Given the description of an element on the screen output the (x, y) to click on. 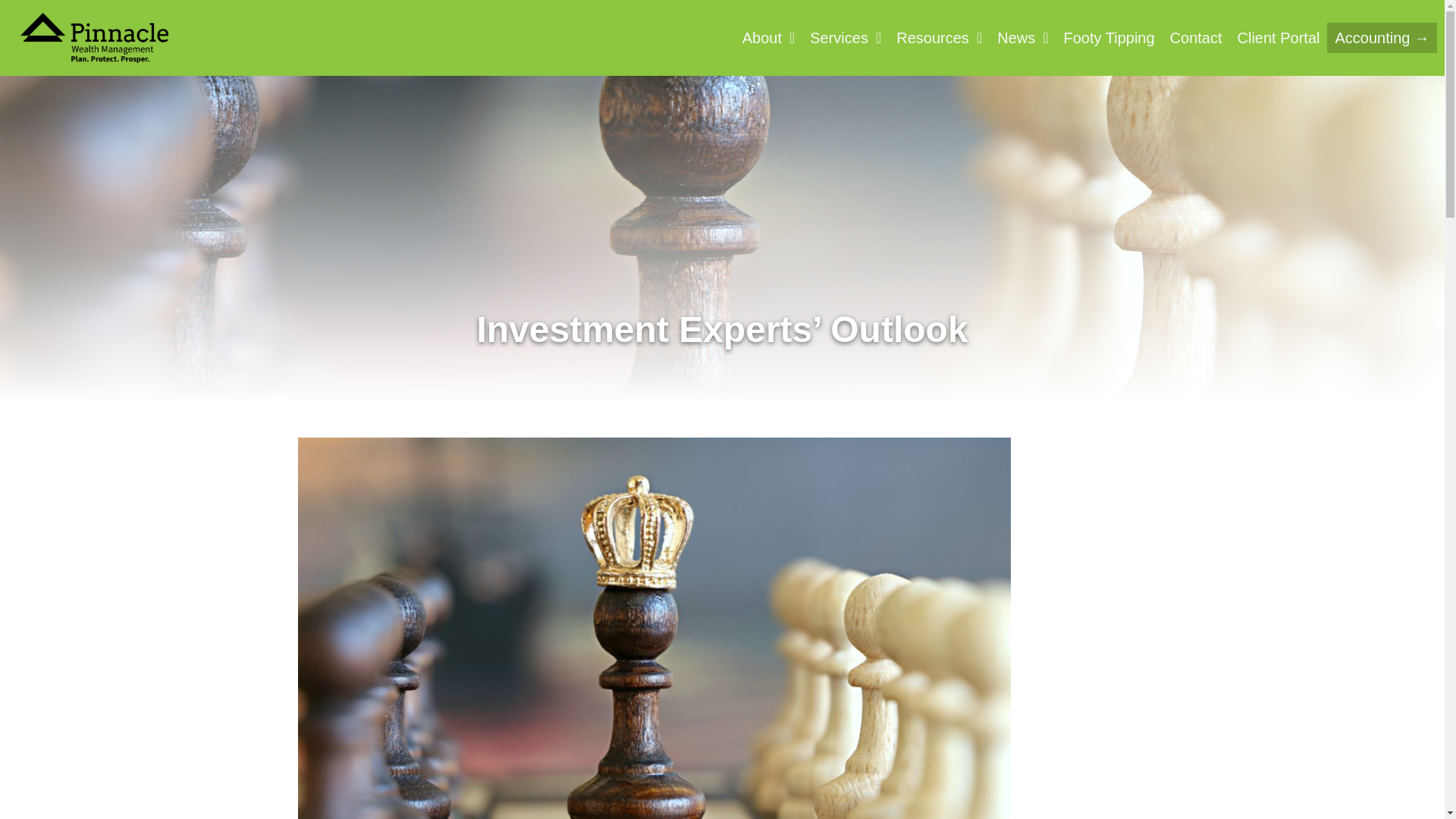
Client Portal (1278, 37)
Footy Tipping (1109, 37)
News (1022, 37)
Contact (1195, 37)
Services (845, 37)
About (769, 37)
Resources (939, 37)
